Given the description of an element on the screen output the (x, y) to click on. 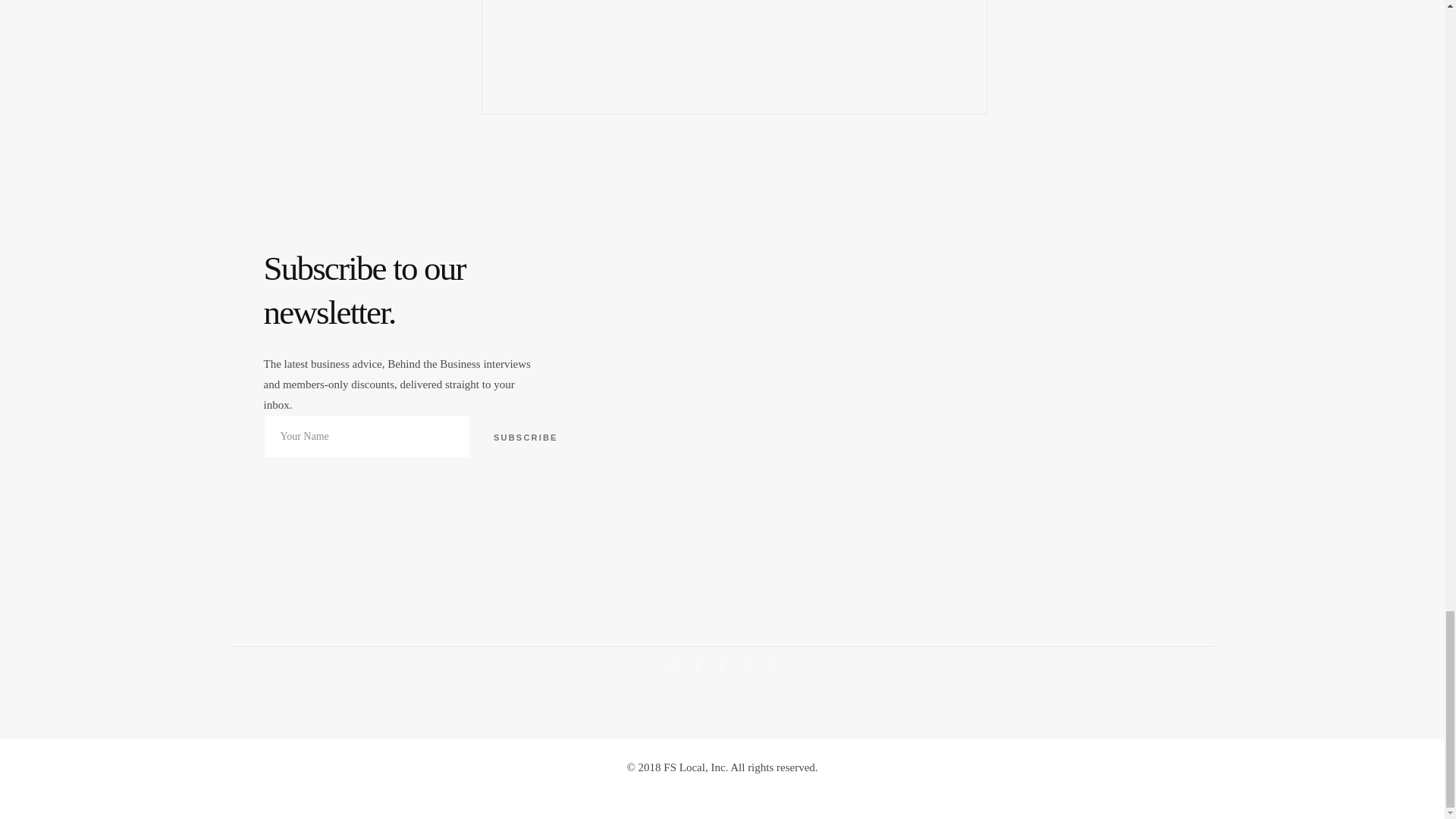
Subscribe (525, 436)
